Given the description of an element on the screen output the (x, y) to click on. 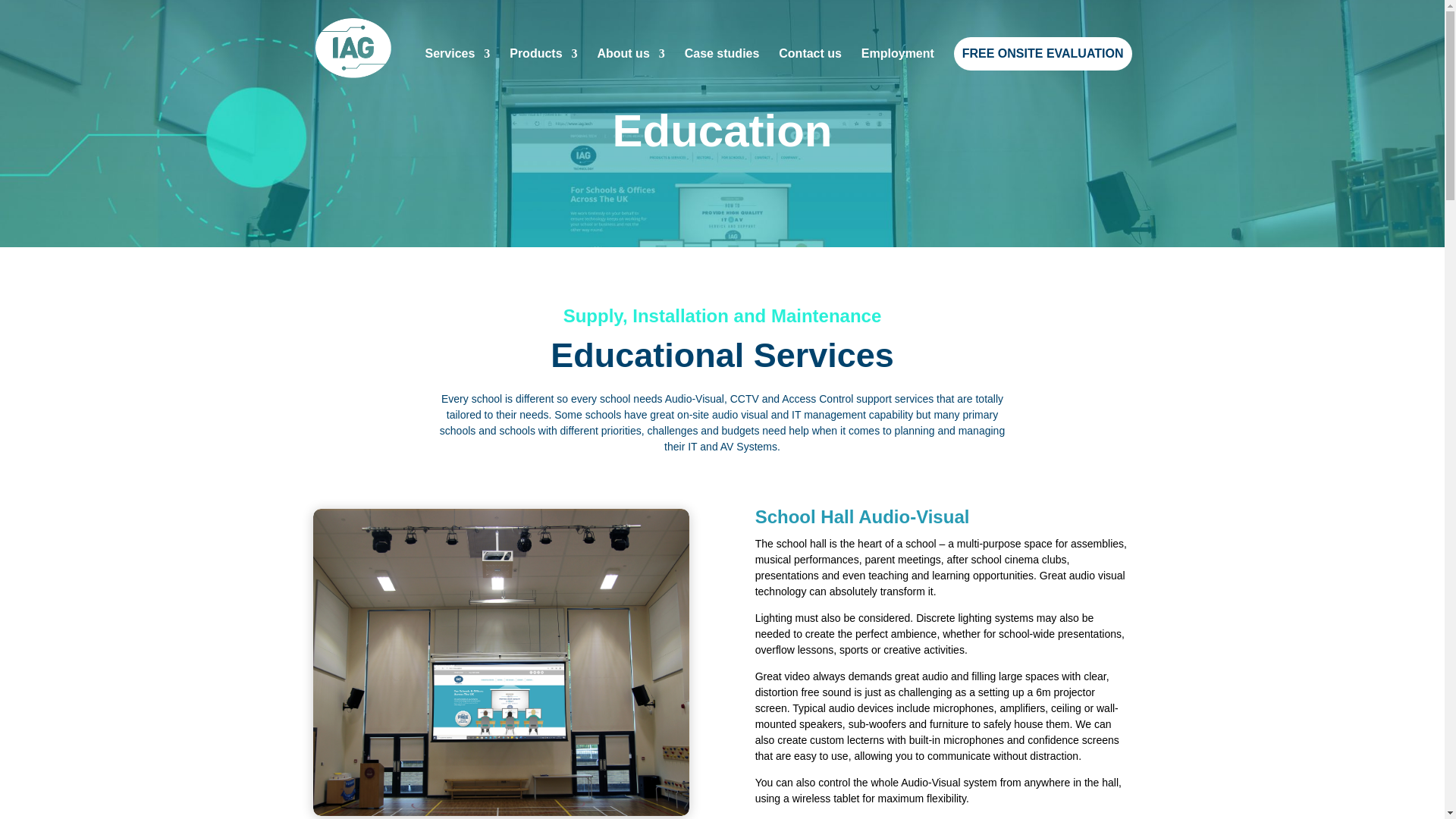
About us (629, 72)
Case studies (722, 72)
Services (457, 72)
School Hall Projection (500, 811)
Products (542, 72)
FREE ONSITE EVALUATION (1042, 53)
Employment (897, 72)
Contact us (809, 72)
